Given the description of an element on the screen output the (x, y) to click on. 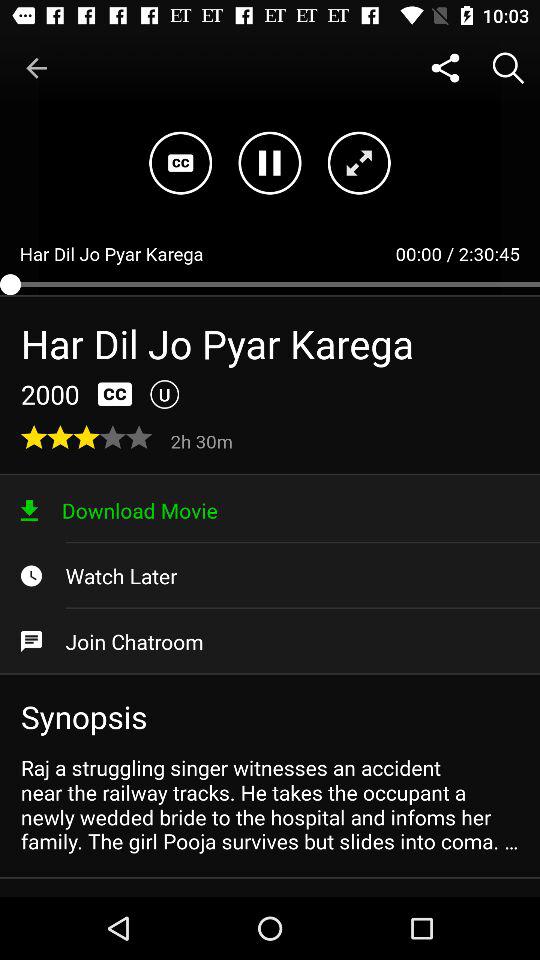
turn on icon above 2:30:45 item (508, 67)
